Given the description of an element on the screen output the (x, y) to click on. 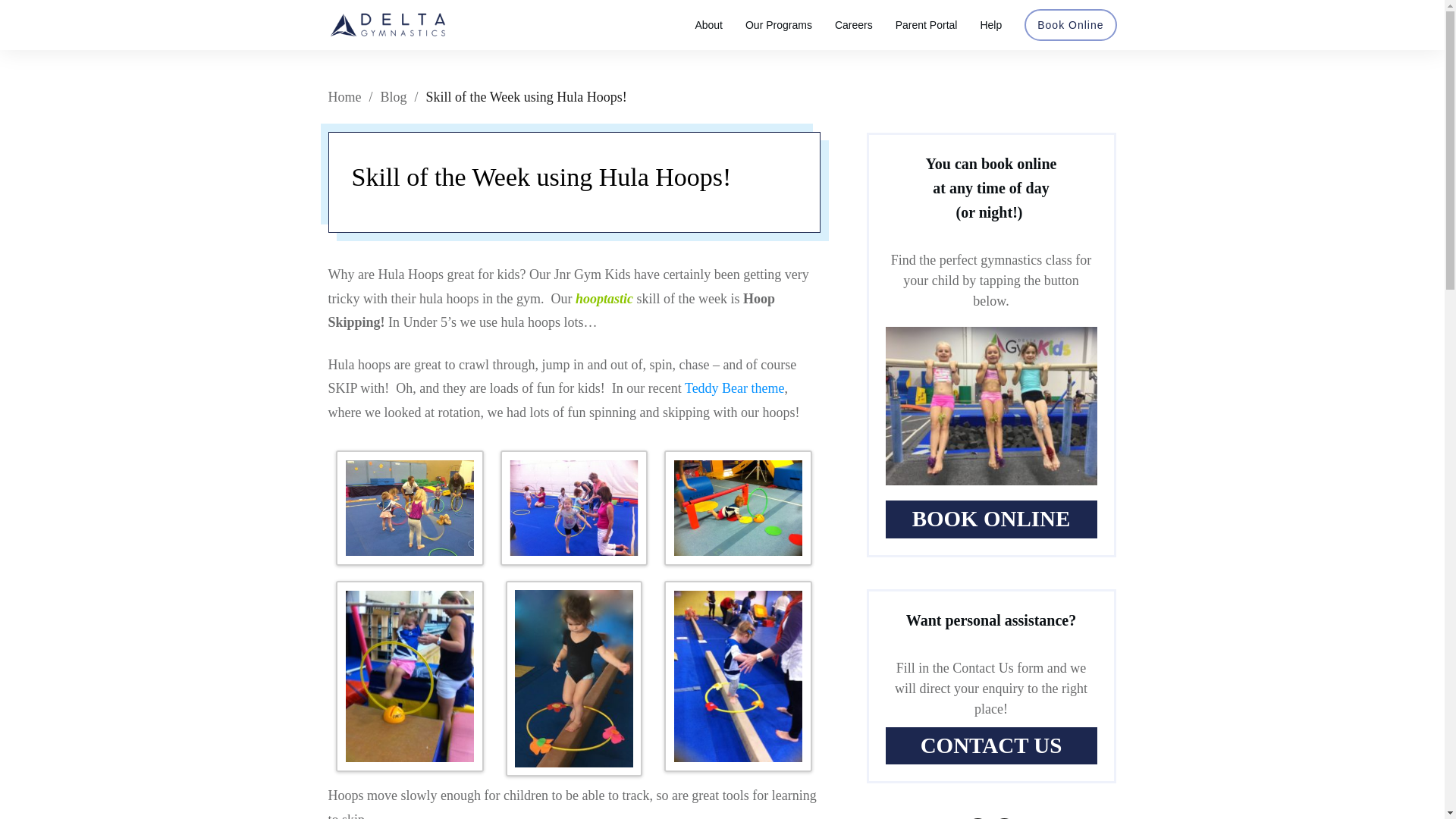
Skill of the Week using Hula Hoops! (542, 176)
Home (344, 97)
BOOK ONLINE (991, 519)
Book Online (1069, 25)
Help (990, 25)
About (708, 25)
Teddy Bear theme (734, 387)
Skill of the Week using Hula Hoops! (542, 176)
Our Programs (778, 25)
Blog (393, 97)
